Given the description of an element on the screen output the (x, y) to click on. 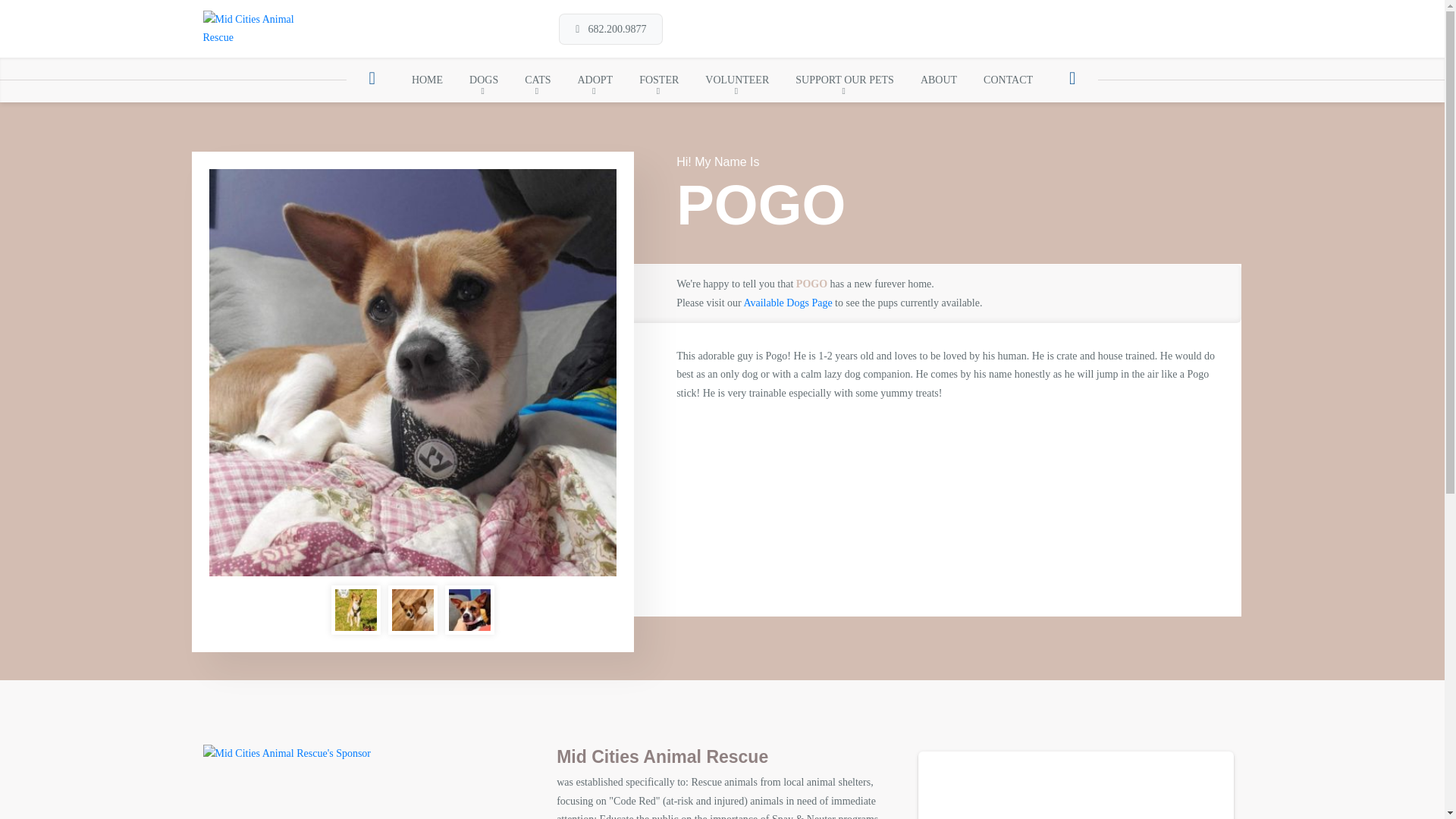
ABOUT (938, 79)
Mid Cities Animal Rescue's Sponsor (287, 752)
682.200.9877 (610, 29)
DOGS (484, 79)
FOSTER (659, 79)
DONATE (1207, 28)
HOME (426, 79)
CATS (538, 79)
POGO (412, 609)
POGO (469, 609)
Mid Cities Animal Rescue (251, 28)
POGO (355, 609)
VOLUNTEER (738, 79)
ADOPT (595, 79)
